Given the description of an element on the screen output the (x, y) to click on. 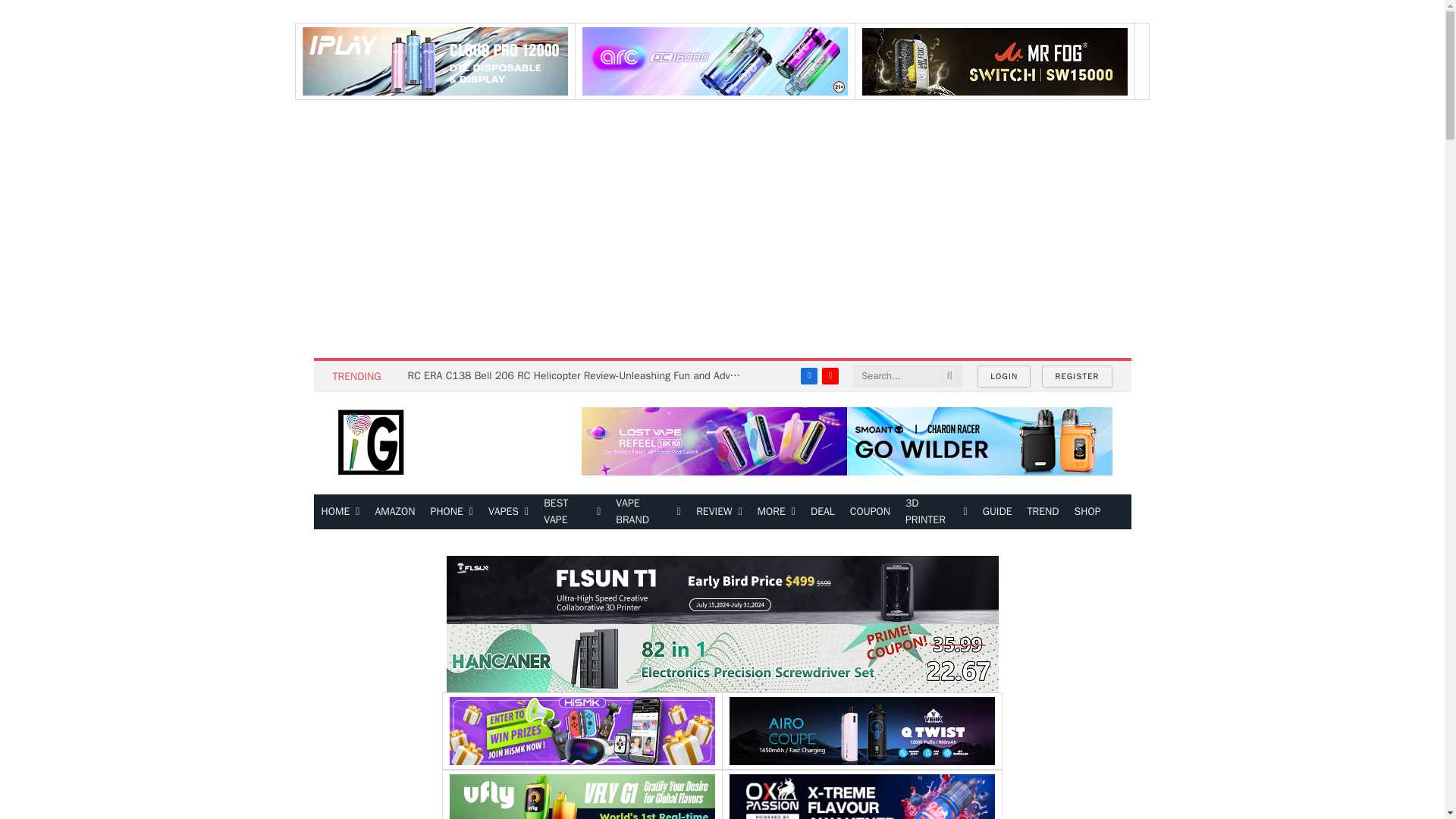
LOGIN (1003, 376)
REGISTER (1077, 376)
YouTube (830, 375)
Facebook (808, 375)
PHONE (451, 511)
HOME (341, 511)
AMAZON (394, 511)
